Given the description of an element on the screen output the (x, y) to click on. 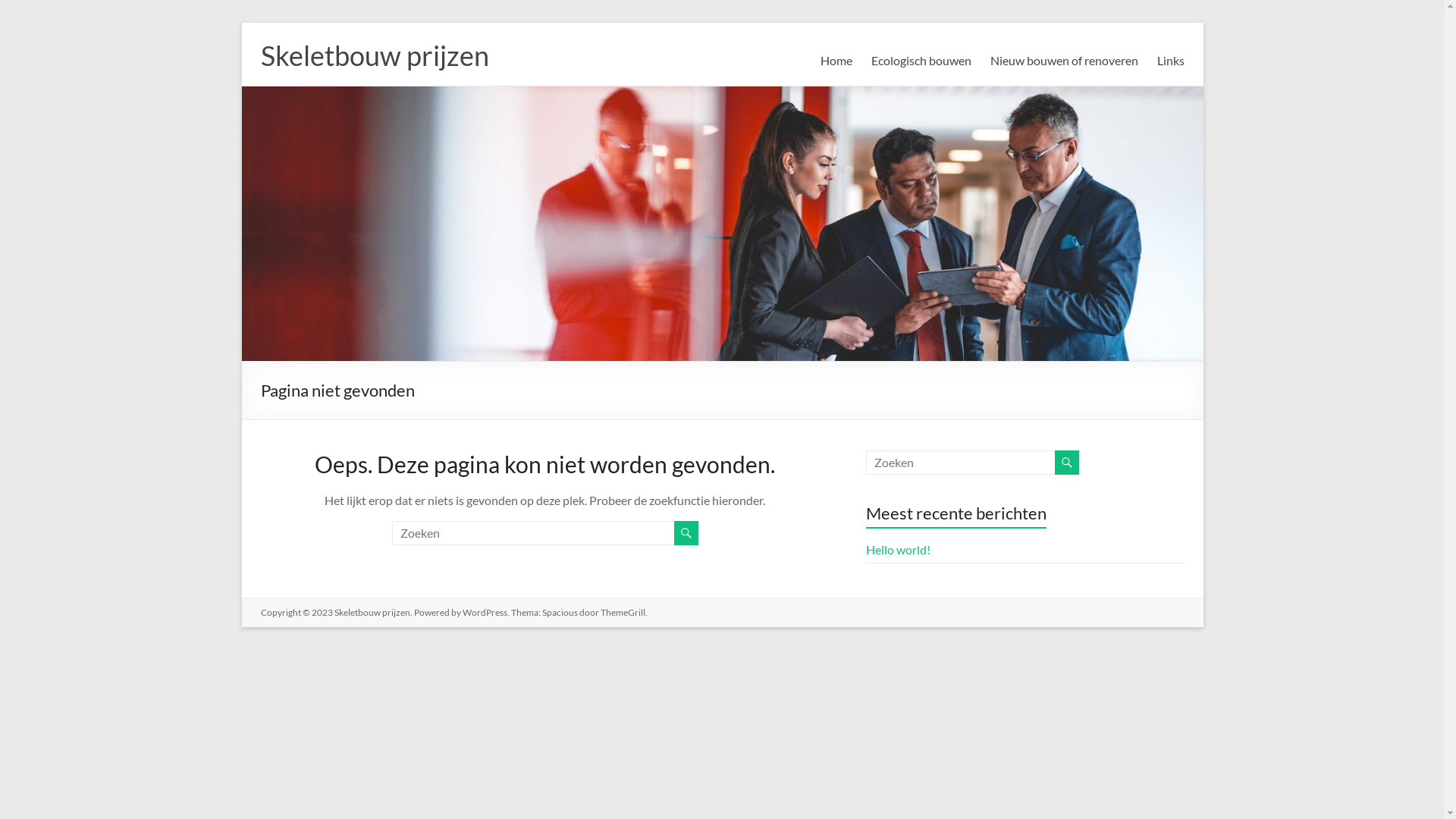
Hello world! Element type: text (898, 549)
Ecologisch bouwen Element type: text (920, 60)
Skeletbouw prijzen Element type: text (371, 612)
Home Element type: text (836, 60)
Links Element type: text (1170, 60)
Nieuw bouwen of renoveren Element type: text (1064, 60)
Skeletbouw prijzen Element type: text (374, 55)
WordPress Element type: text (484, 612)
ThemeGrill Element type: text (622, 612)
Skip to content Element type: text (241, 21)
